Given the description of an element on the screen output the (x, y) to click on. 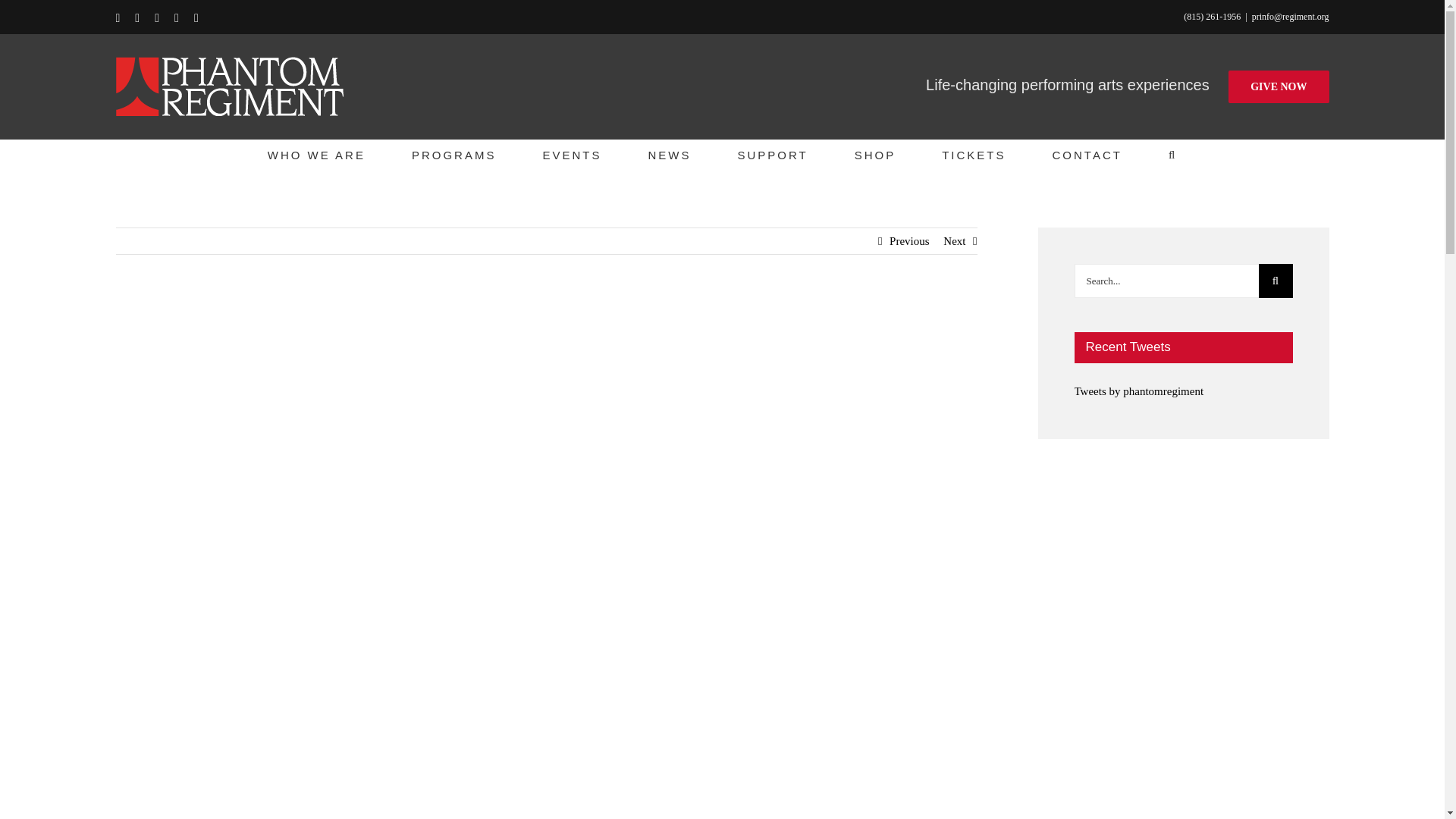
EVENTS (571, 154)
WHO WE ARE (316, 154)
NEWS (668, 154)
SUPPORT (772, 154)
SHOP (875, 154)
PROGRAMS (454, 154)
GIVE NOW (1277, 85)
